Given the description of an element on the screen output the (x, y) to click on. 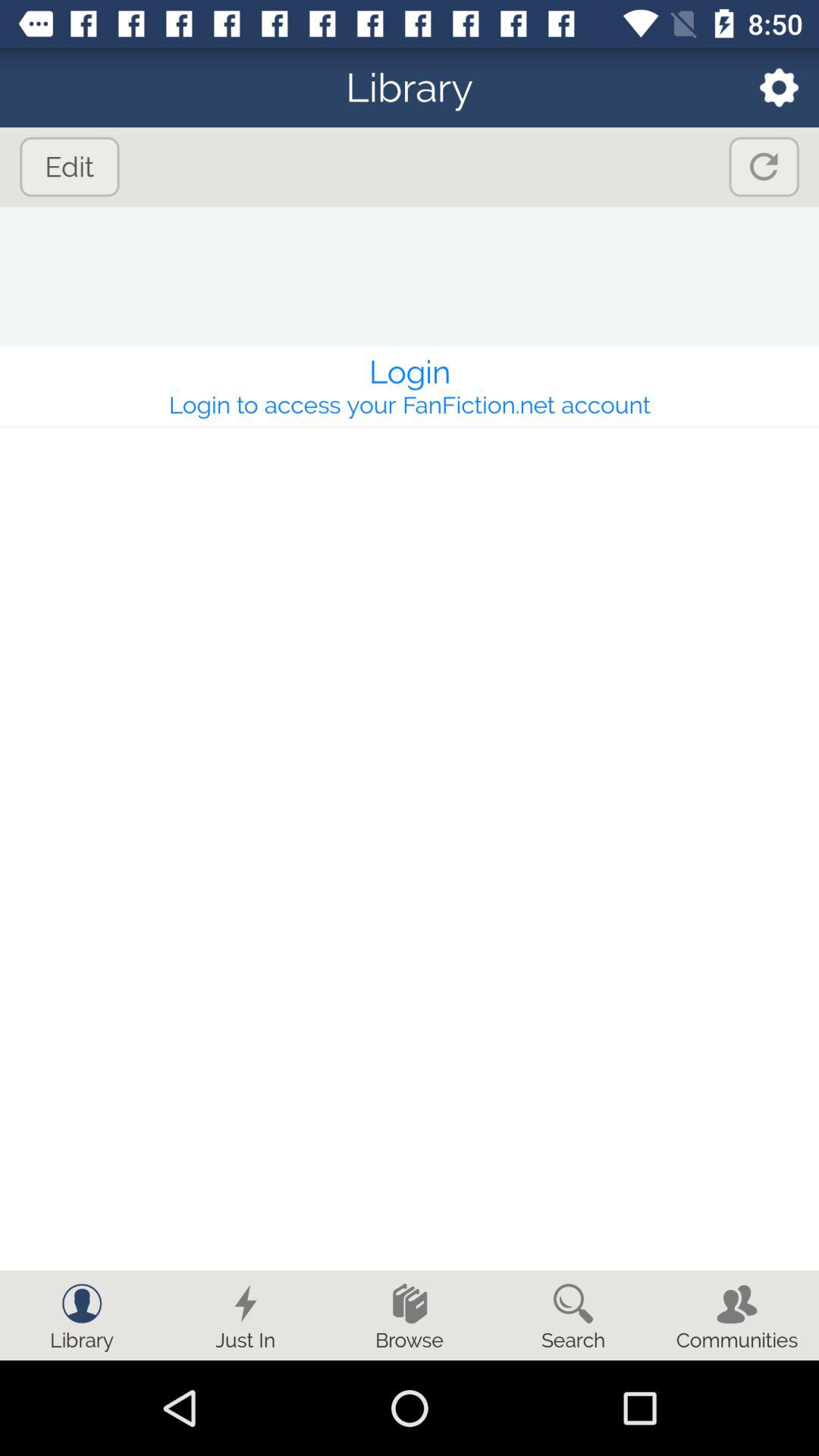
click for user settings (769, 87)
